Given the description of an element on the screen output the (x, y) to click on. 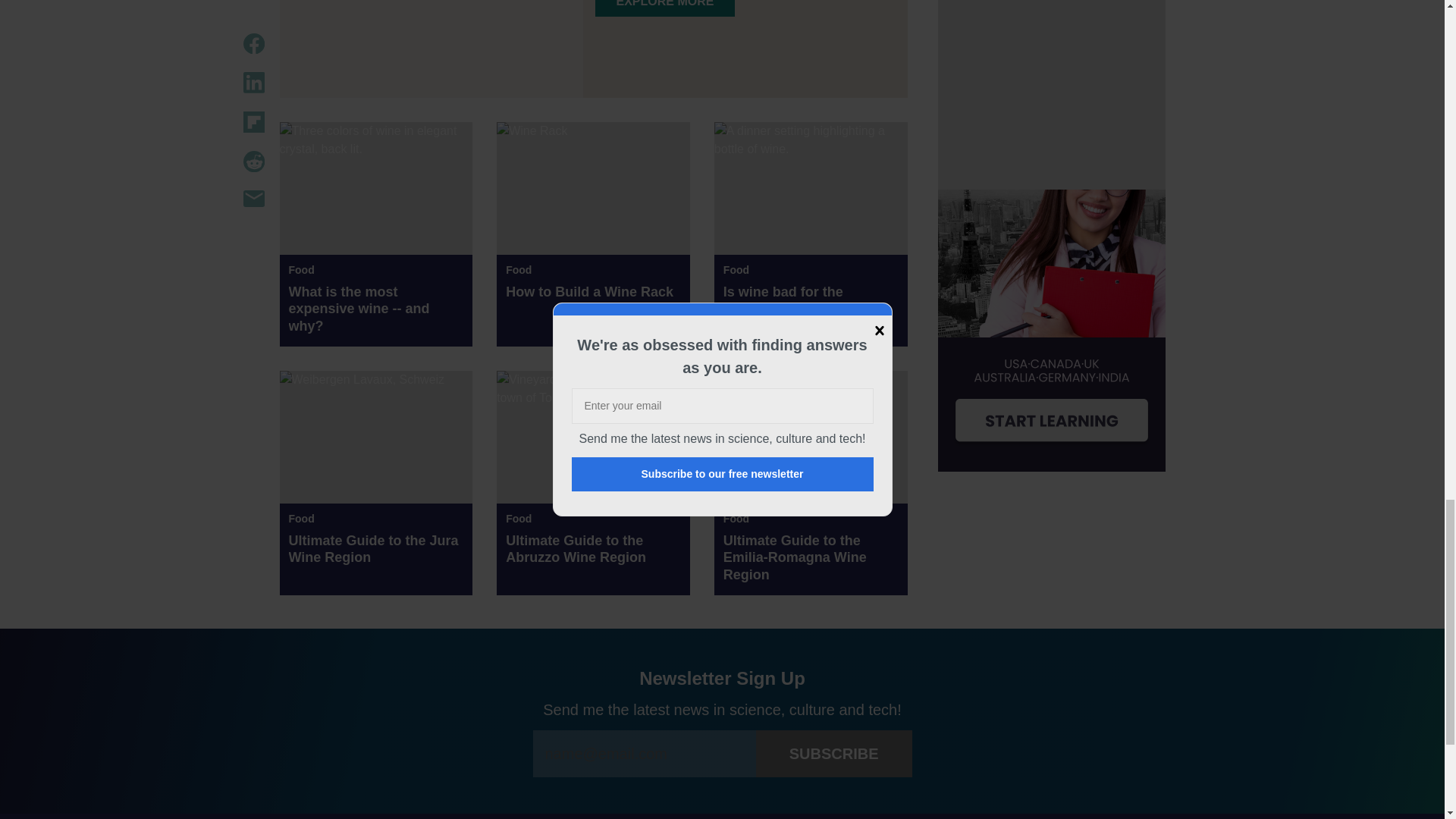
Subscribe (833, 753)
